Given the description of an element on the screen output the (x, y) to click on. 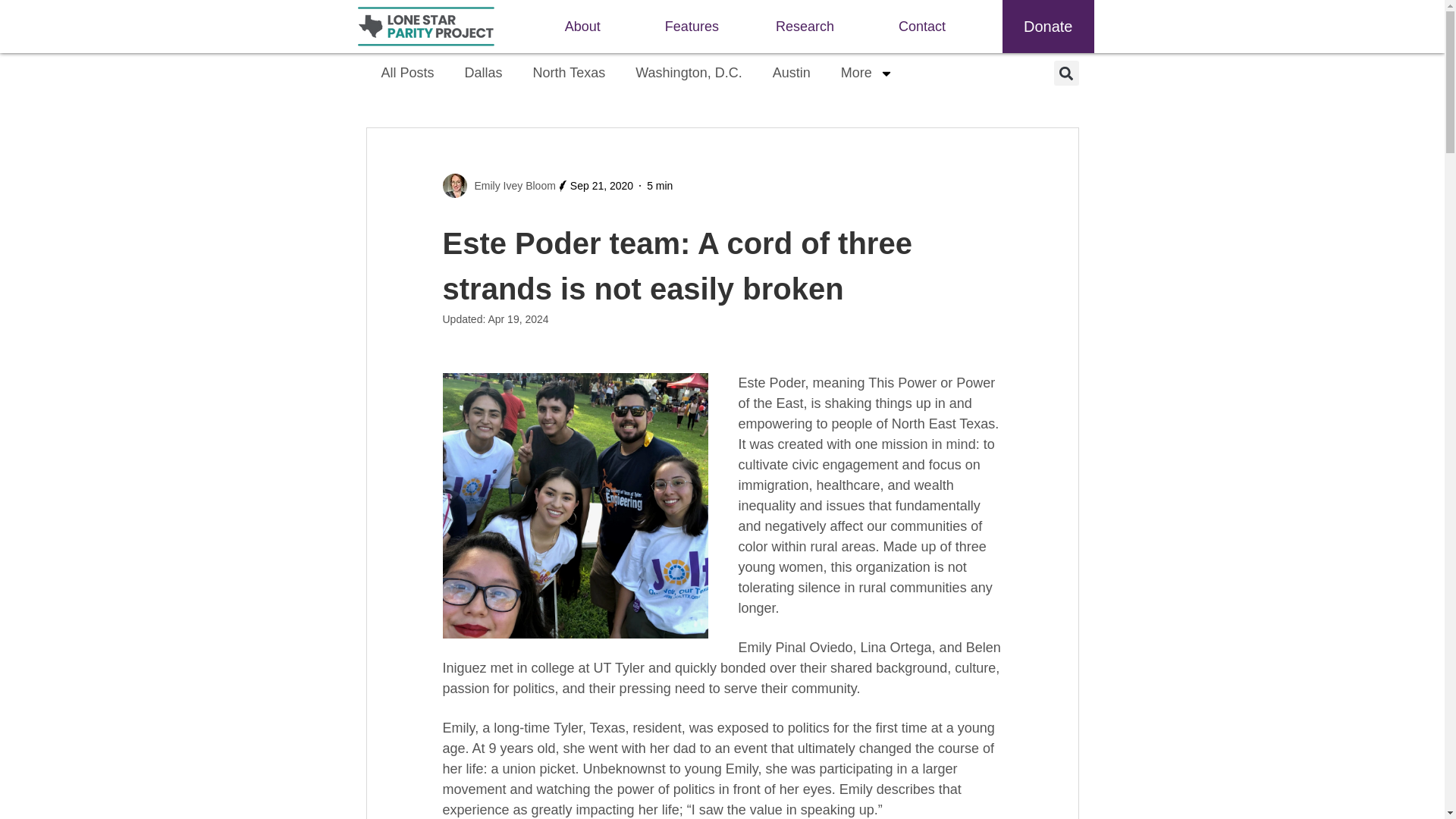
Dallas (483, 73)
Donate (1048, 26)
Features (692, 26)
Washington, D.C. (688, 73)
All Posts (406, 73)
Austin (791, 73)
North Texas (569, 73)
Research (808, 26)
More (866, 73)
